Given the description of an element on the screen output the (x, y) to click on. 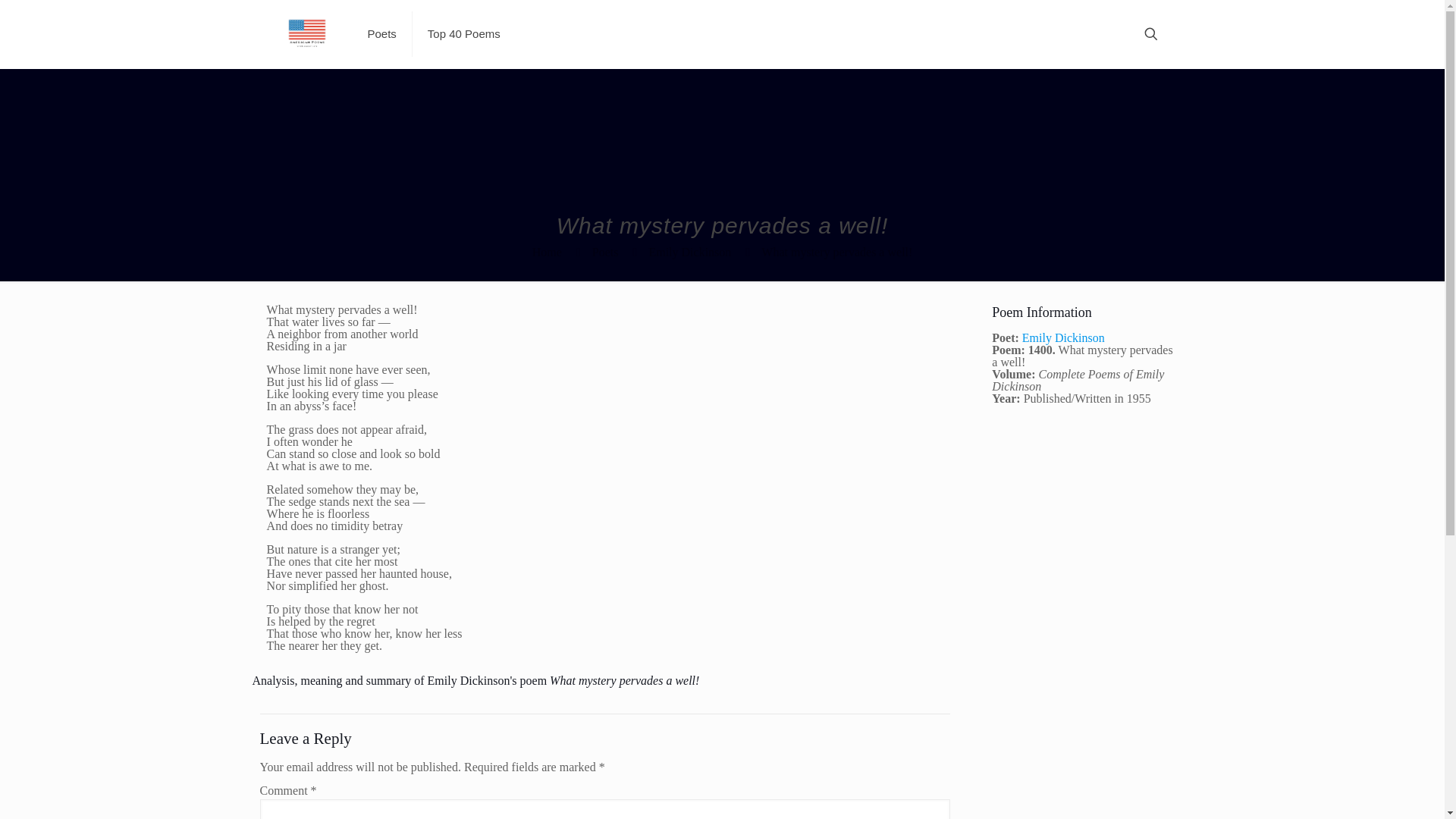
Poets (605, 251)
Home (547, 251)
Emily Dickinson (1063, 337)
What mystery pervades a well! (836, 251)
Top 40 Poems (463, 33)
Emily Dickinson (688, 251)
